Given the description of an element on the screen output the (x, y) to click on. 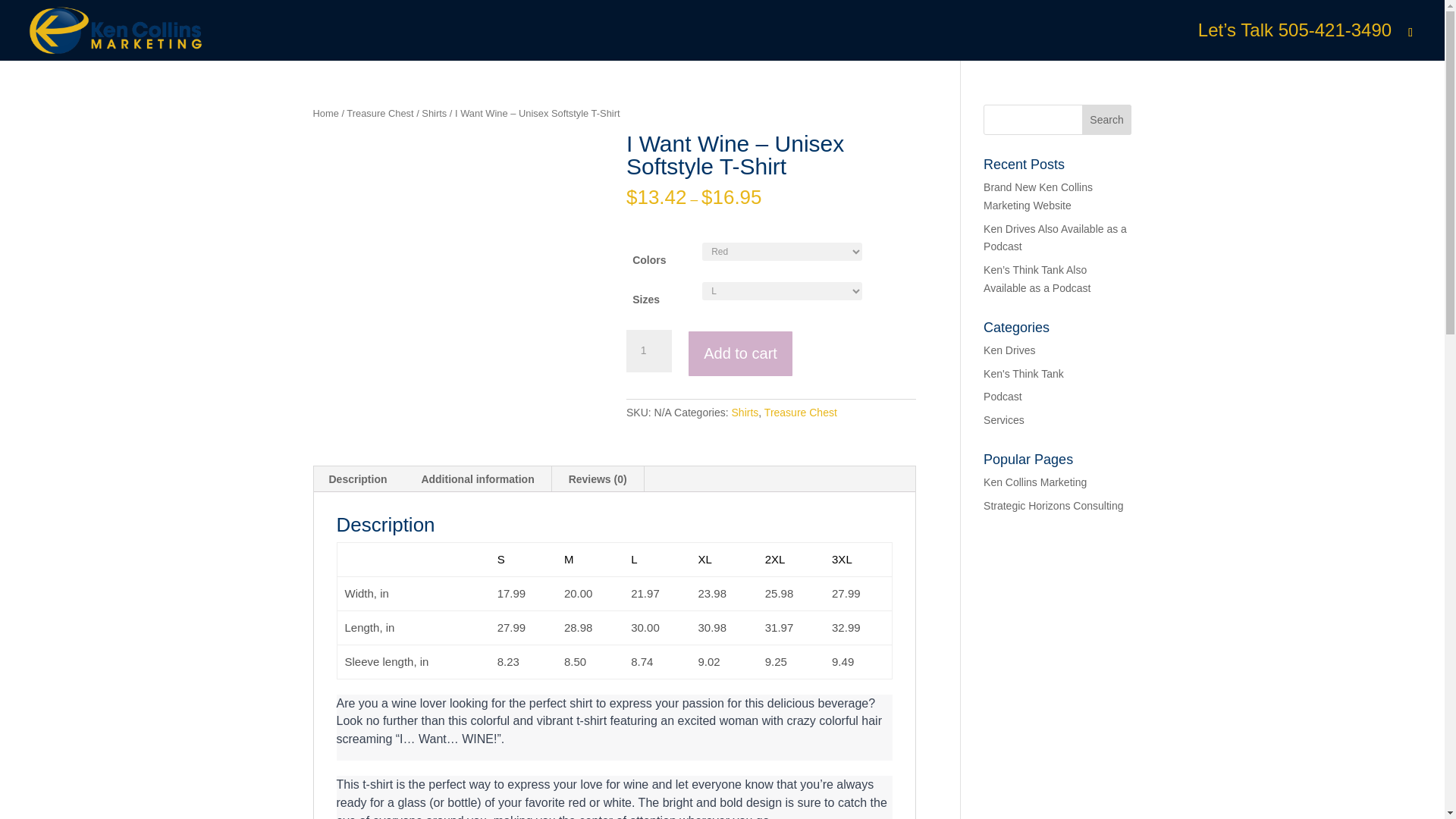
Shirts (745, 412)
Description (358, 479)
Treasure Chest (379, 112)
1 (648, 351)
Treasure Chest (800, 412)
Strategic Horizons Consulting (1053, 505)
Ken Collins Marketing (1035, 481)
Shirts (434, 112)
Add to cart (740, 353)
Brand New Ken Collins Marketing Website (1038, 195)
Ken Drives (1009, 349)
Search (1106, 119)
Home (325, 112)
Ken Drives Also Available as a Podcast (1055, 237)
Search (1106, 119)
